Given the description of an element on the screen output the (x, y) to click on. 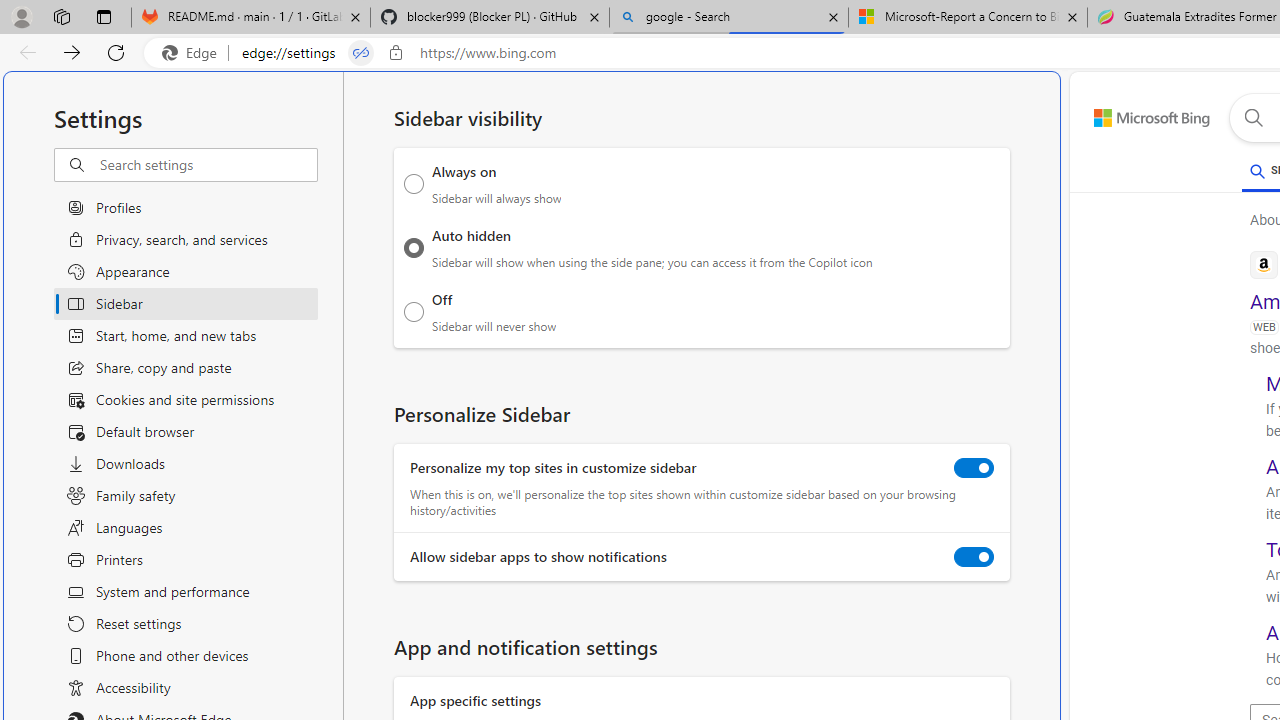
Back to Bing search (1139, 113)
Search button (1253, 117)
Edge (194, 53)
Search settings (207, 165)
